Given the description of an element on the screen output the (x, y) to click on. 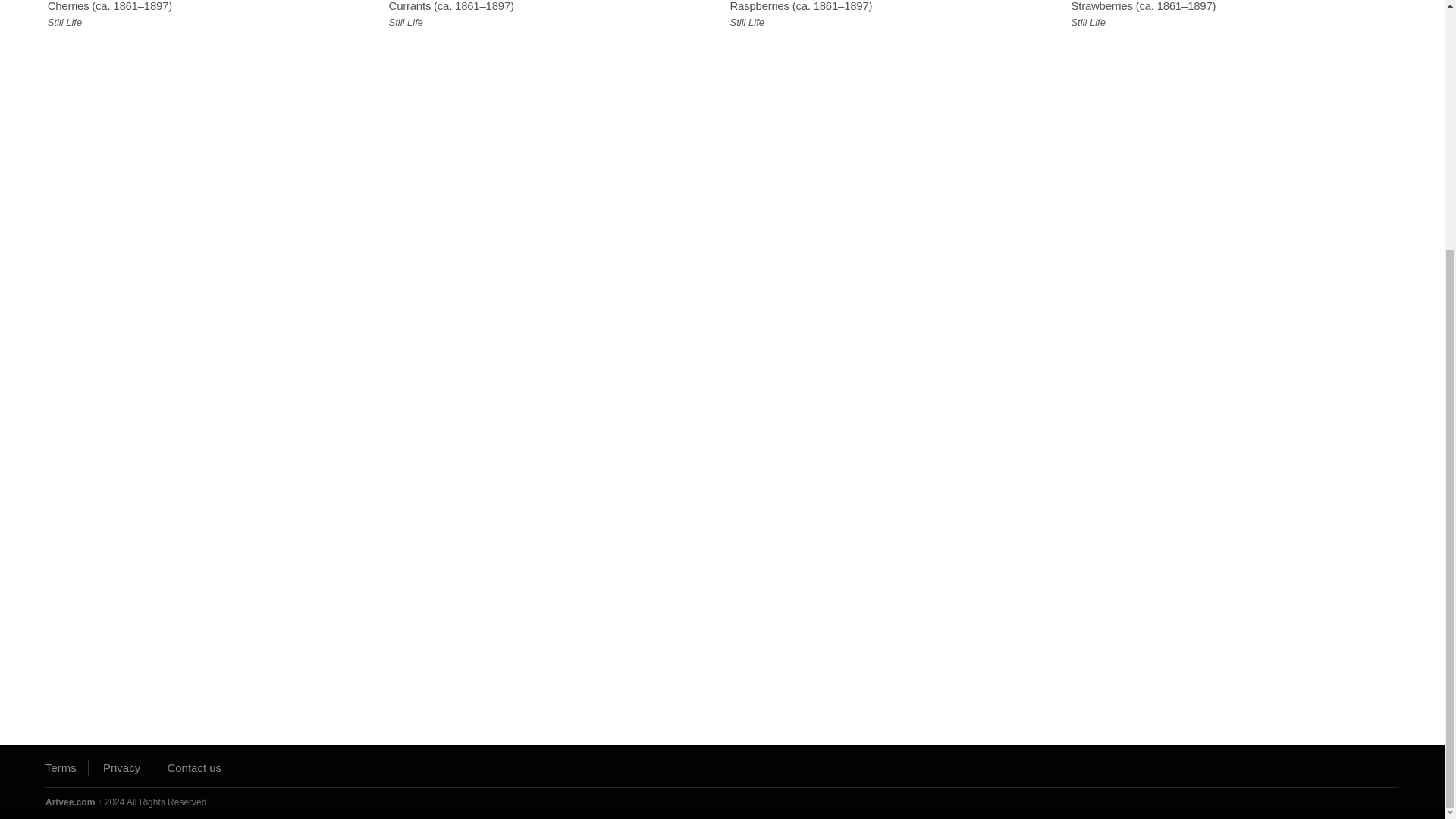
Still Life (65, 22)
